Given the description of an element on the screen output the (x, y) to click on. 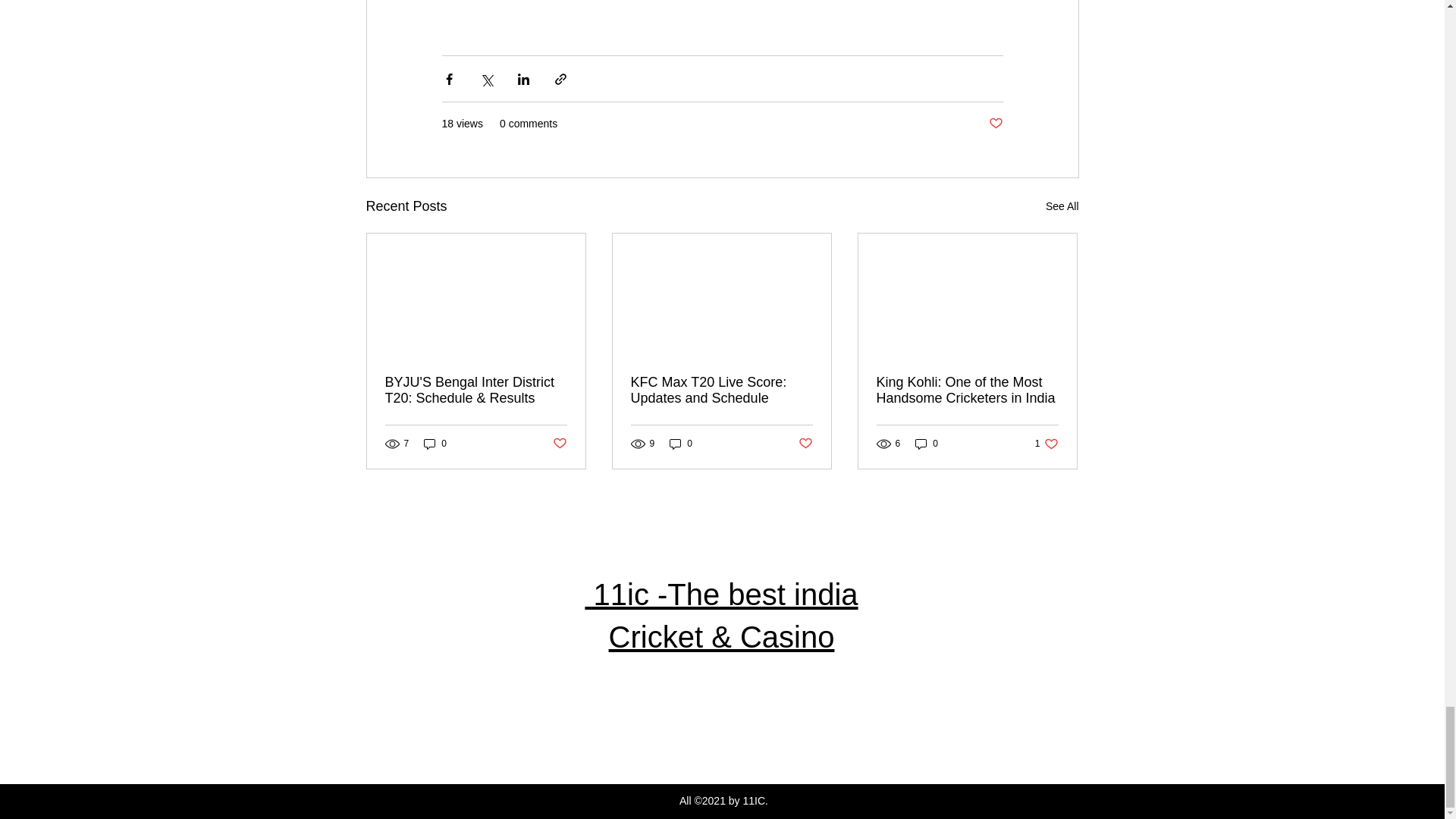
Post not marked as liked (995, 123)
0 (681, 442)
Post not marked as liked (804, 443)
0 (435, 442)
0 (926, 442)
KFC Max T20 Live Score: Updates and Schedule (721, 390)
See All (1061, 206)
Post not marked as liked (1046, 442)
King Kohli: One of the Most Handsome Cricketers in India (558, 443)
